Given the description of an element on the screen output the (x, y) to click on. 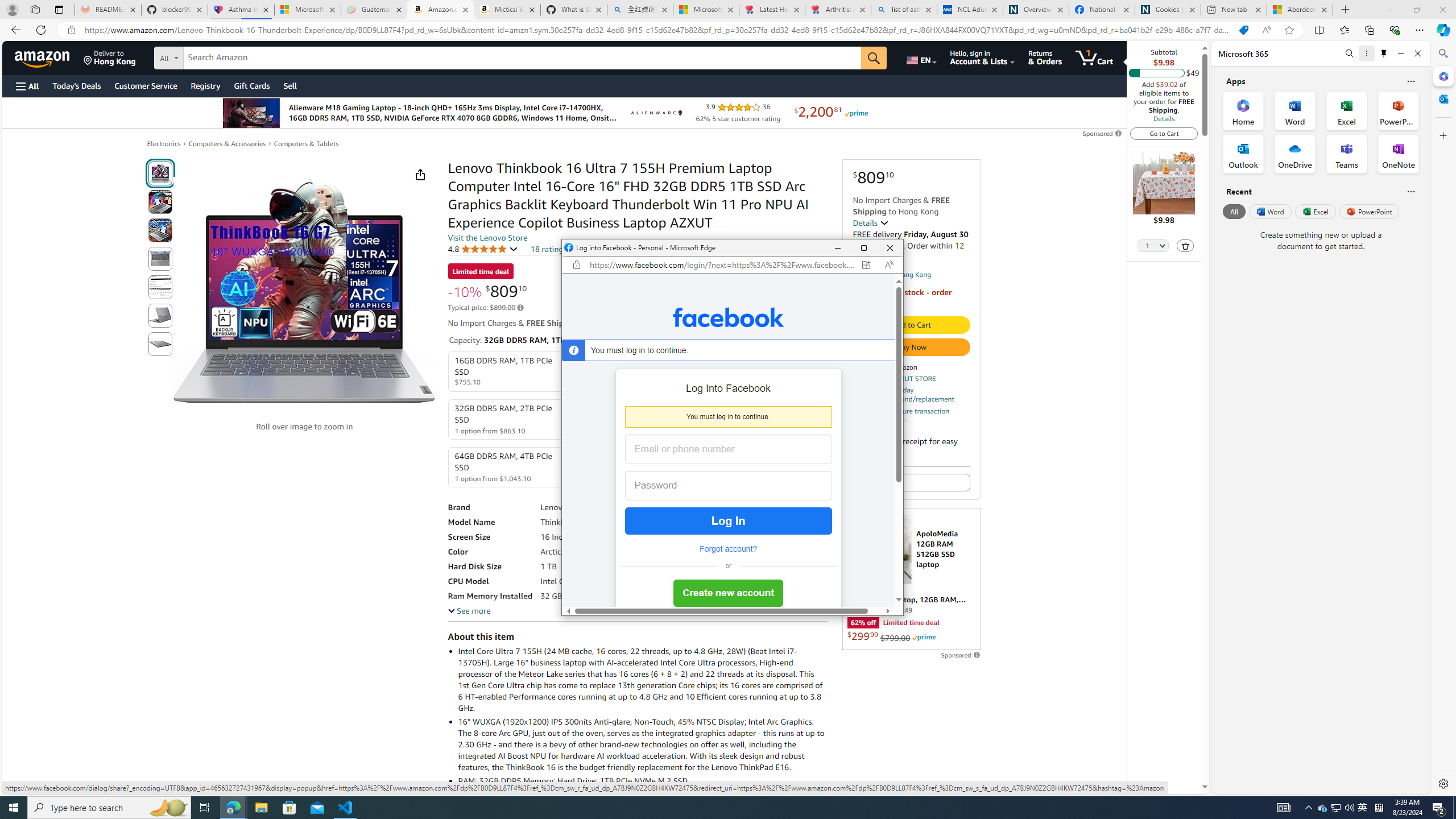
RAM: 32GB DDR5 Memory; Hard Drive: 1TB PCIe NVMe M.2 SSD. (642, 780)
Details (1163, 118)
Aberdeen, Hong Kong SAR hourly forecast | Microsoft Weather (1300, 9)
Is this helpful? (1410, 191)
Go to Cart (1163, 133)
Computers & Accessories (226, 143)
Outlook Office App (1243, 154)
Logo (655, 112)
User Promoted Notification Area (1336, 807)
Cookies | About | NICE (1167, 9)
